Given the description of an element on the screen output the (x, y) to click on. 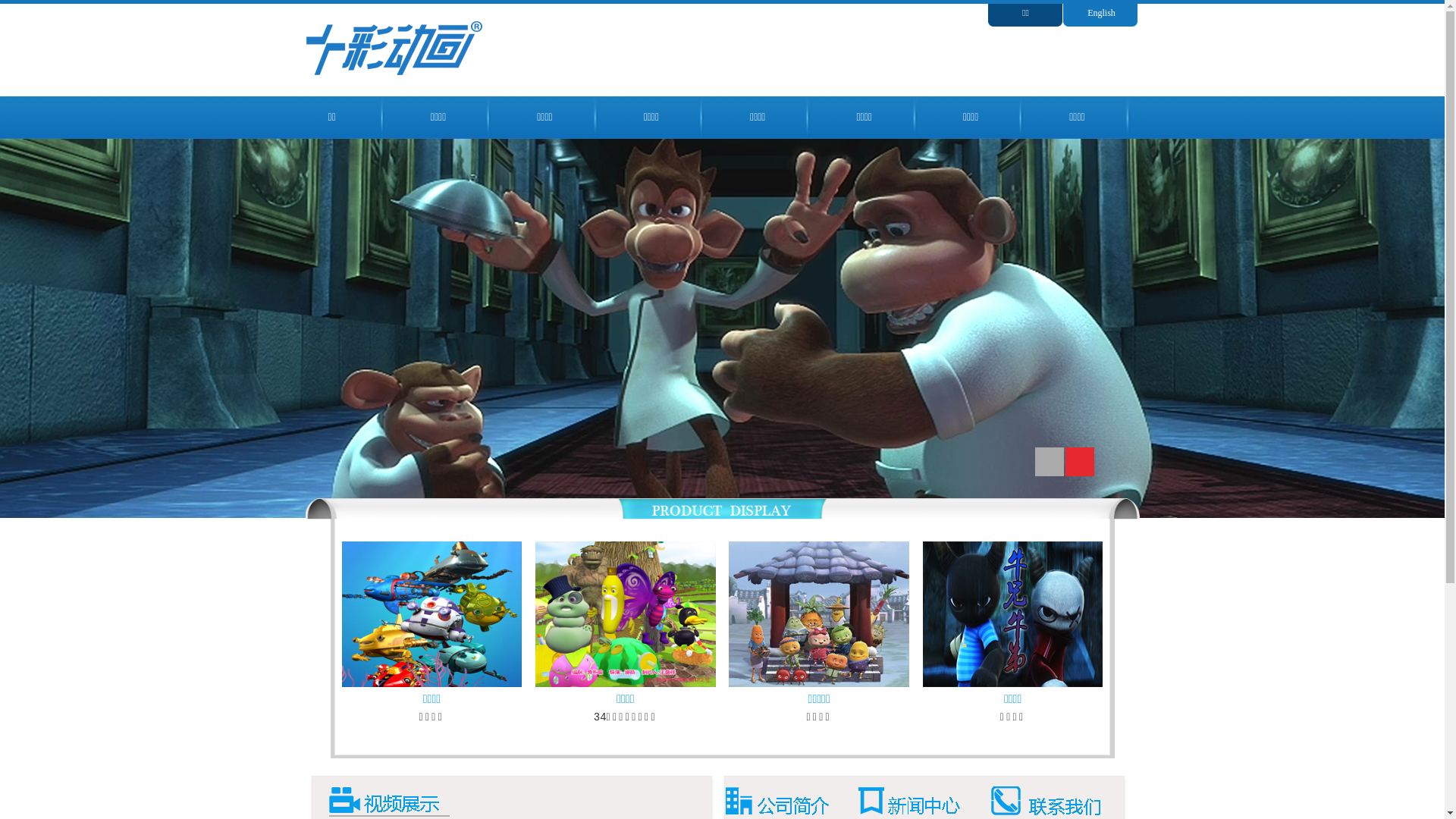
English Element type: text (1101, 12)
